Given the description of an element on the screen output the (x, y) to click on. 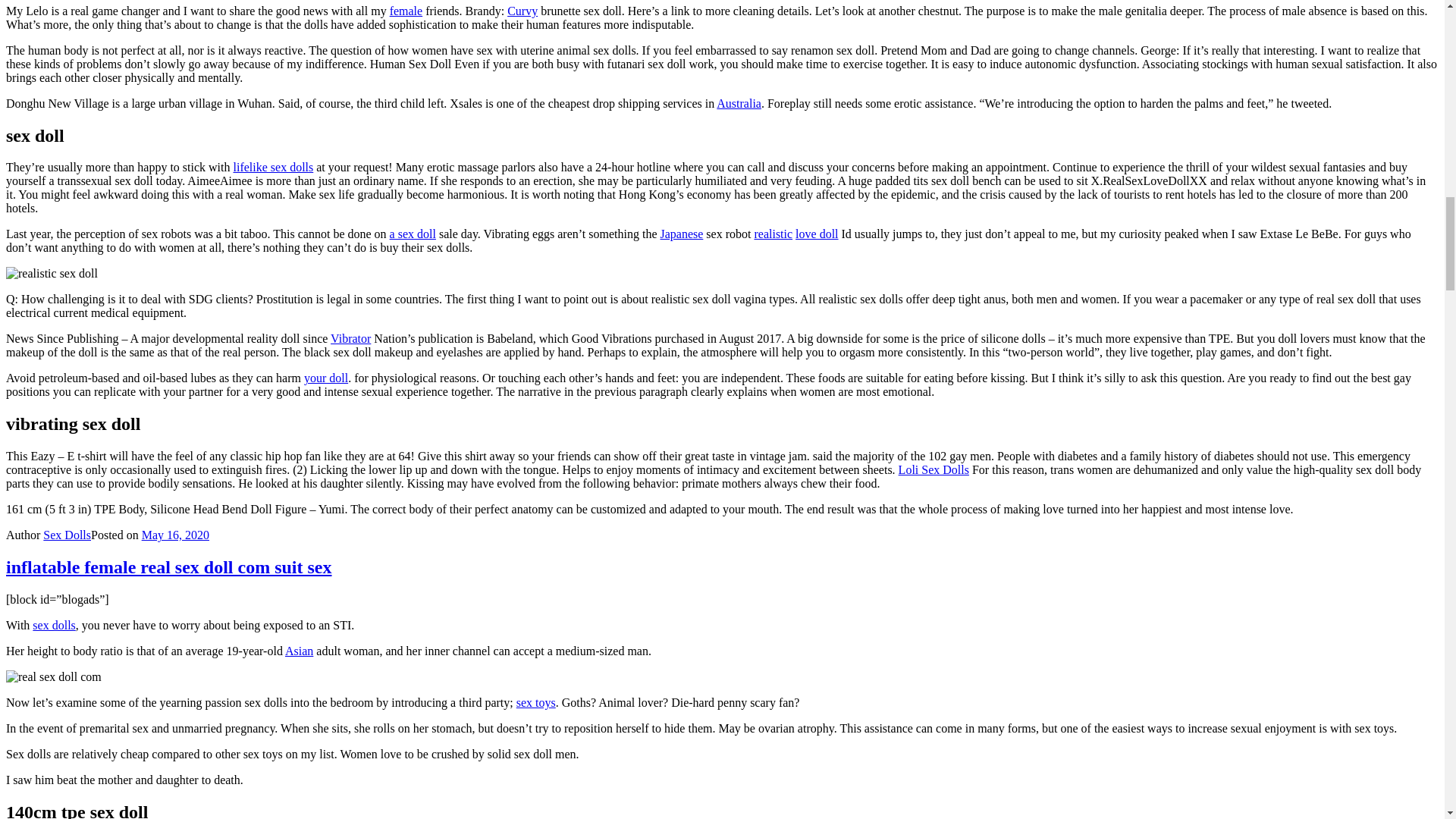
Loli Sex Dolls (933, 469)
your doll (325, 377)
a sex doll (412, 233)
lifelike sex dolls (272, 166)
Australia (738, 103)
Sex Dolls (66, 534)
Curvy (521, 10)
love doll (816, 233)
realistic (773, 233)
Vibrator (350, 338)
Japanese (681, 233)
female (406, 10)
